Given the description of an element on the screen output the (x, y) to click on. 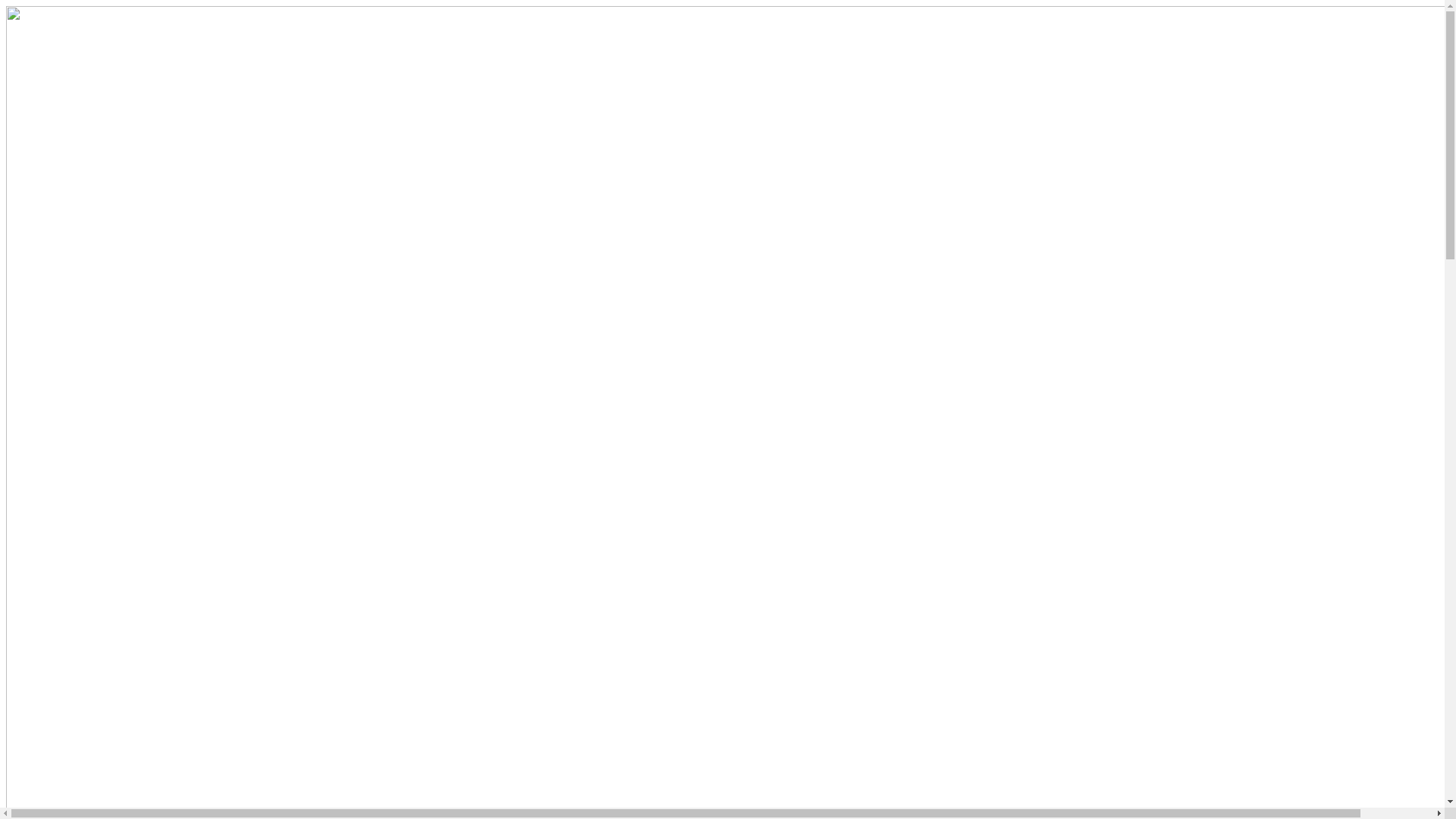
Aller au contenu principal Element type: text (5, 5)
